Given the description of an element on the screen output the (x, y) to click on. 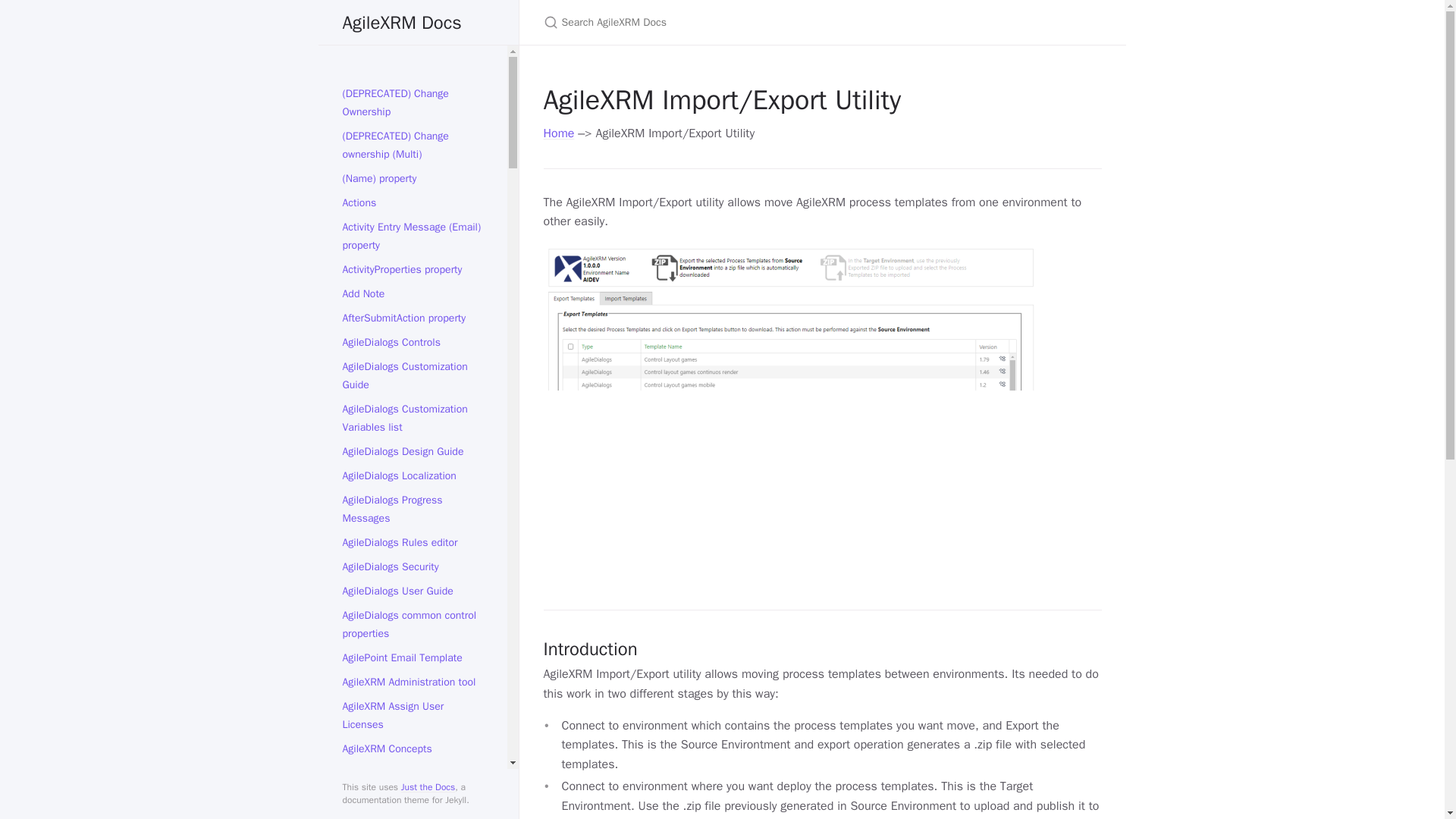
ActivityProperties property (412, 269)
AgileDialogs Customization Variables list (412, 418)
AgileDialogs Localization (412, 476)
AgileDialogs Rules editor (412, 542)
AgileXRM Concepts (412, 749)
AgileDialogs common control properties (412, 624)
AgileXRM OnBoarding Guide (412, 814)
Actions (412, 202)
AgileDialogs Customization Guide (412, 375)
Add Note (412, 293)
